Given the description of an element on the screen output the (x, y) to click on. 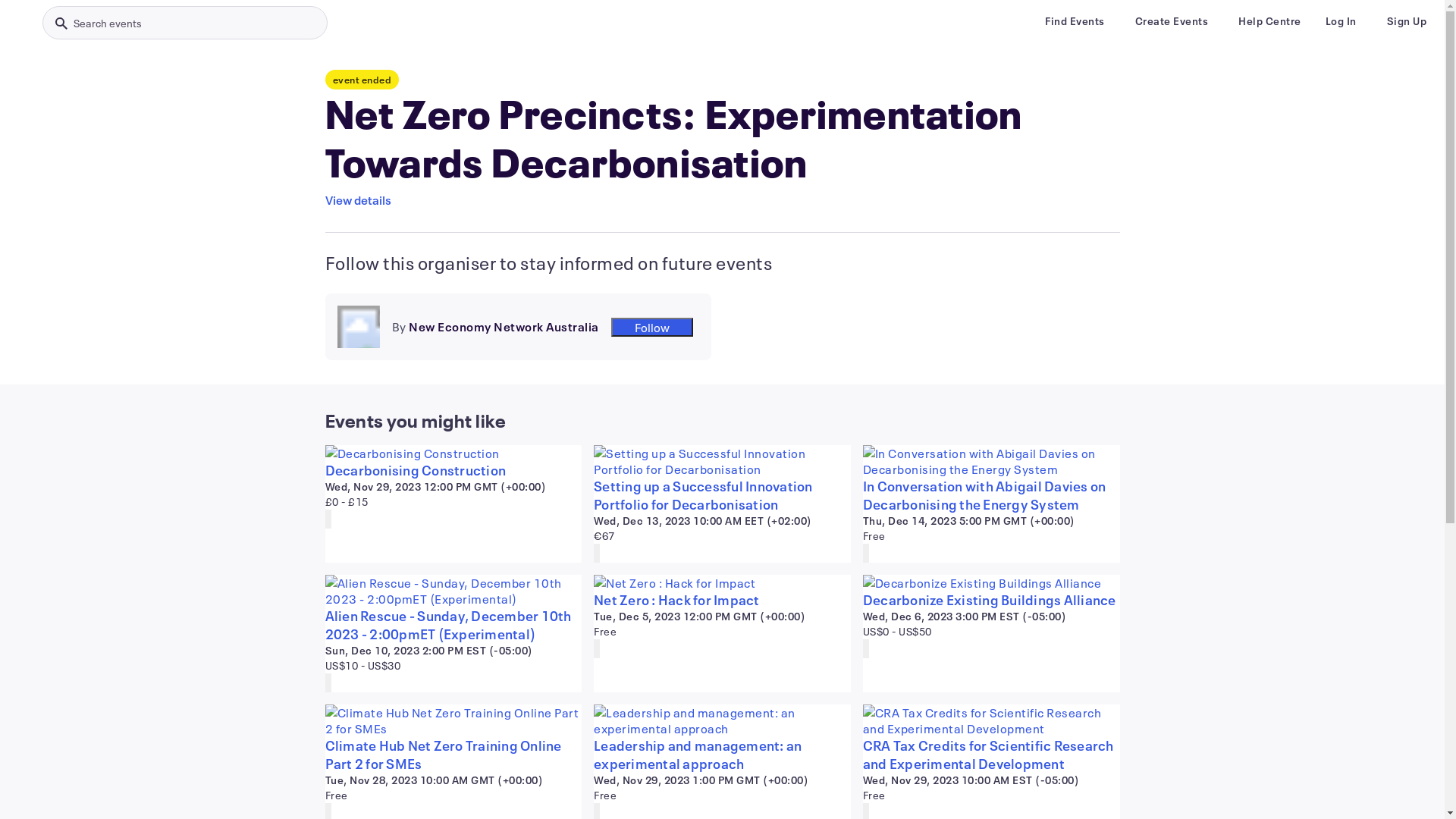
Net Zero : Hack for Impact Element type: text (721, 599)
Sign Up Element type: text (1406, 21)
Follow Element type: text (652, 325)
View details Element type: text (357, 199)
Decarbonize Existing Buildings Alliance Element type: text (991, 599)
Search events Element type: text (184, 22)
Leadership and management: an experimental approach Element type: text (721, 754)
Find Events Element type: text (1074, 21)
Decarbonising Construction Element type: text (452, 470)
Climate Hub Net Zero Training Online Part 2 for SMEs Element type: text (452, 754)
Create Events Element type: text (1171, 21)
Log In Element type: text (1340, 21)
